Given the description of an element on the screen output the (x, y) to click on. 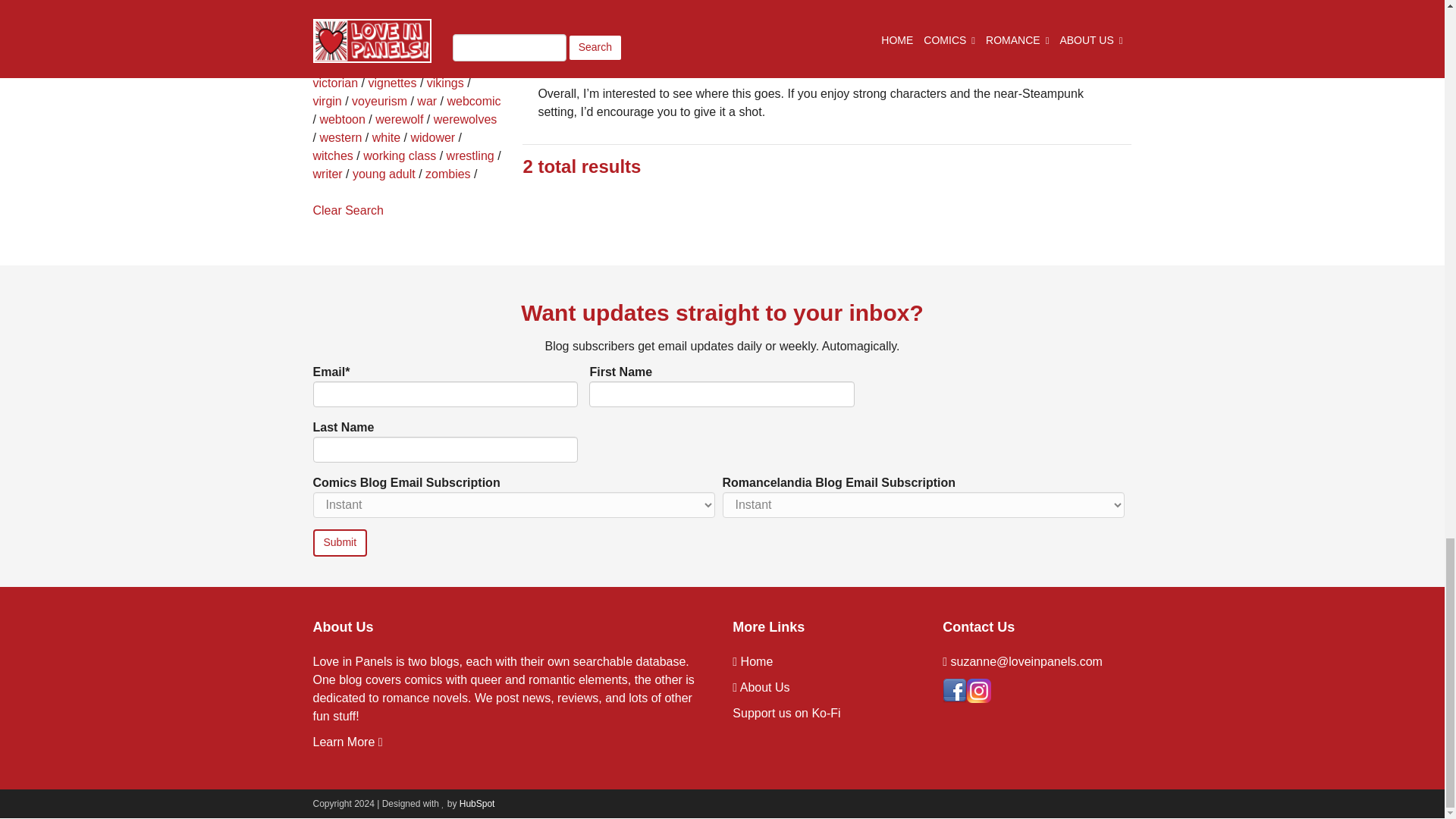
Submit (339, 542)
